Given the description of an element on the screen output the (x, y) to click on. 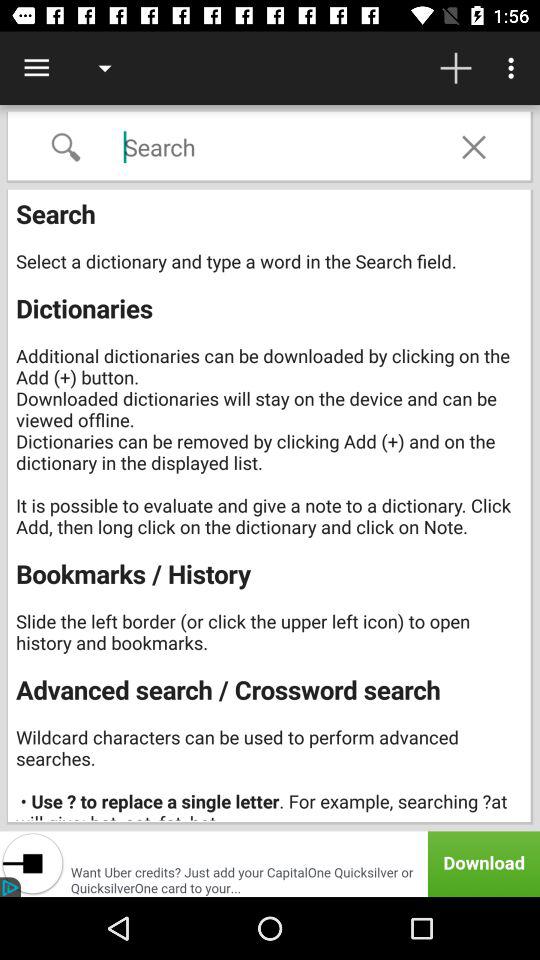
select the icon above the search select a (473, 147)
